Given the description of an element on the screen output the (x, y) to click on. 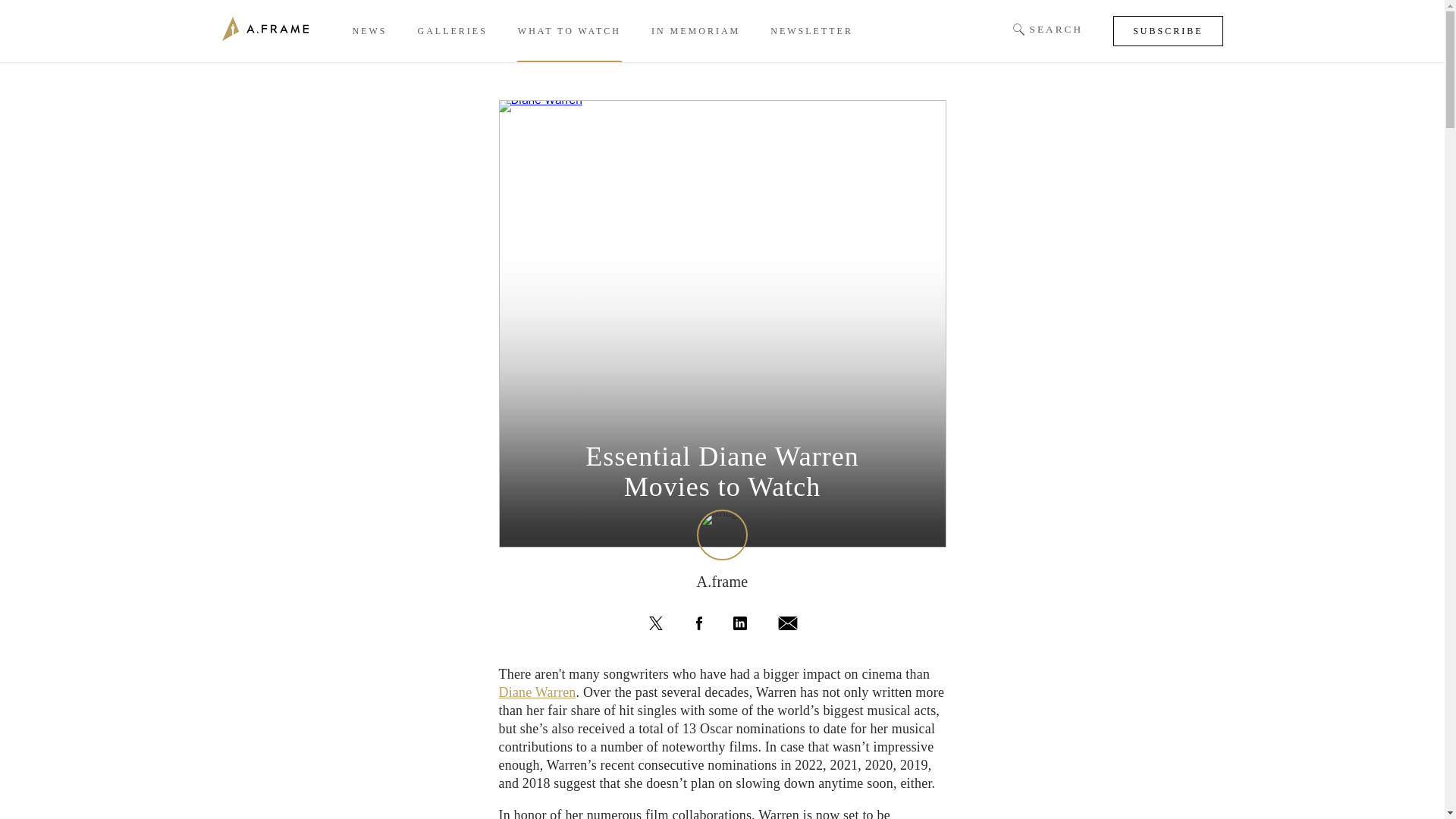
GALLERIES (450, 31)
NEWSLETTER (811, 31)
SEARCH (1048, 30)
IN MEMORIAM (695, 31)
WHAT TO WATCH (569, 31)
SUBSCRIBE (1168, 30)
Diane Warren (537, 692)
